Given the description of an element on the screen output the (x, y) to click on. 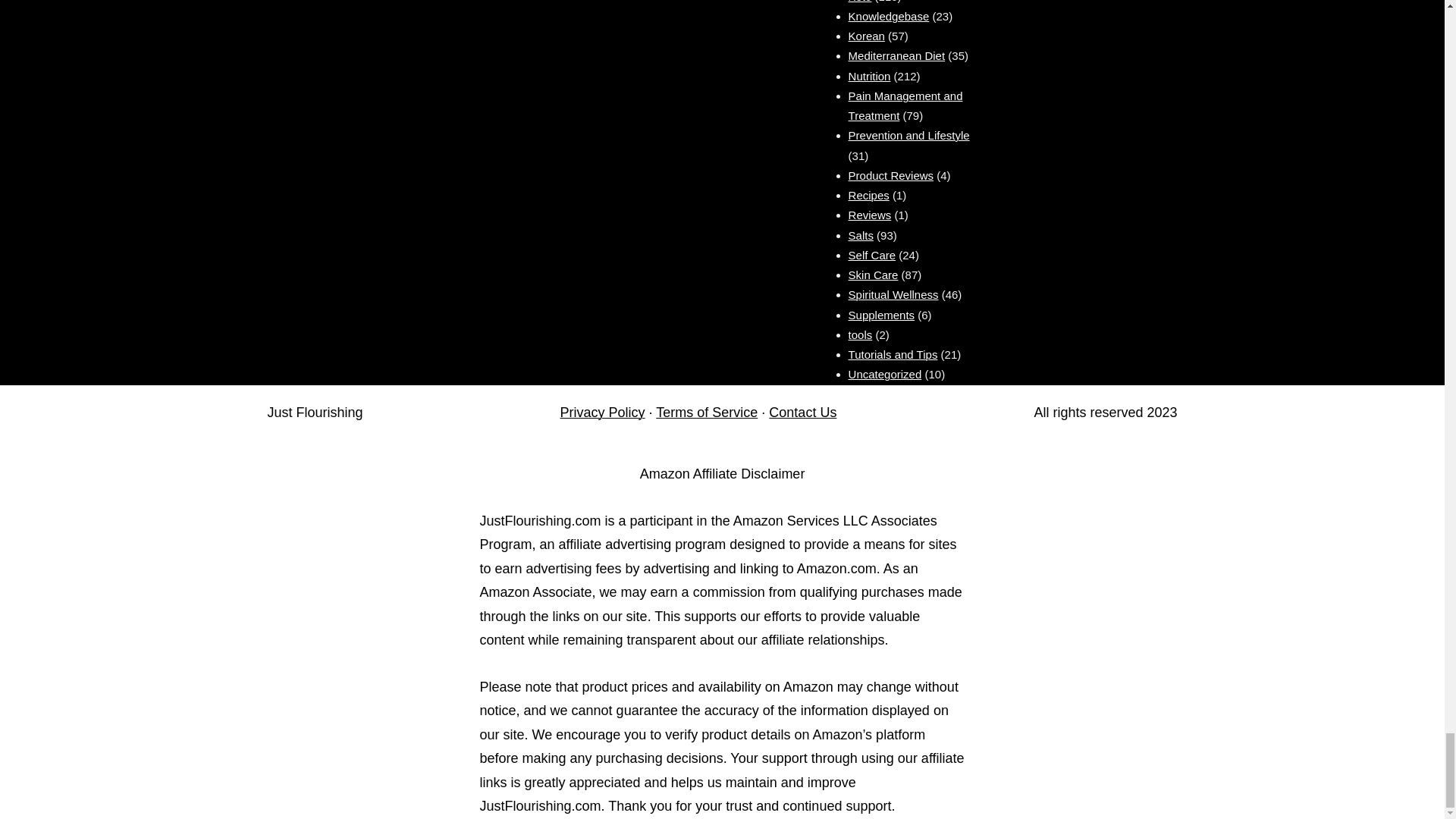
Korean (866, 35)
Product Reviews (891, 174)
Nutrition (869, 75)
Recipes (868, 195)
Keto (860, 1)
Mediterranean Diet (896, 55)
Knowledgebase (889, 15)
Pain Management and Treatment (905, 105)
Prevention and Lifestyle (908, 134)
